Given the description of an element on the screen output the (x, y) to click on. 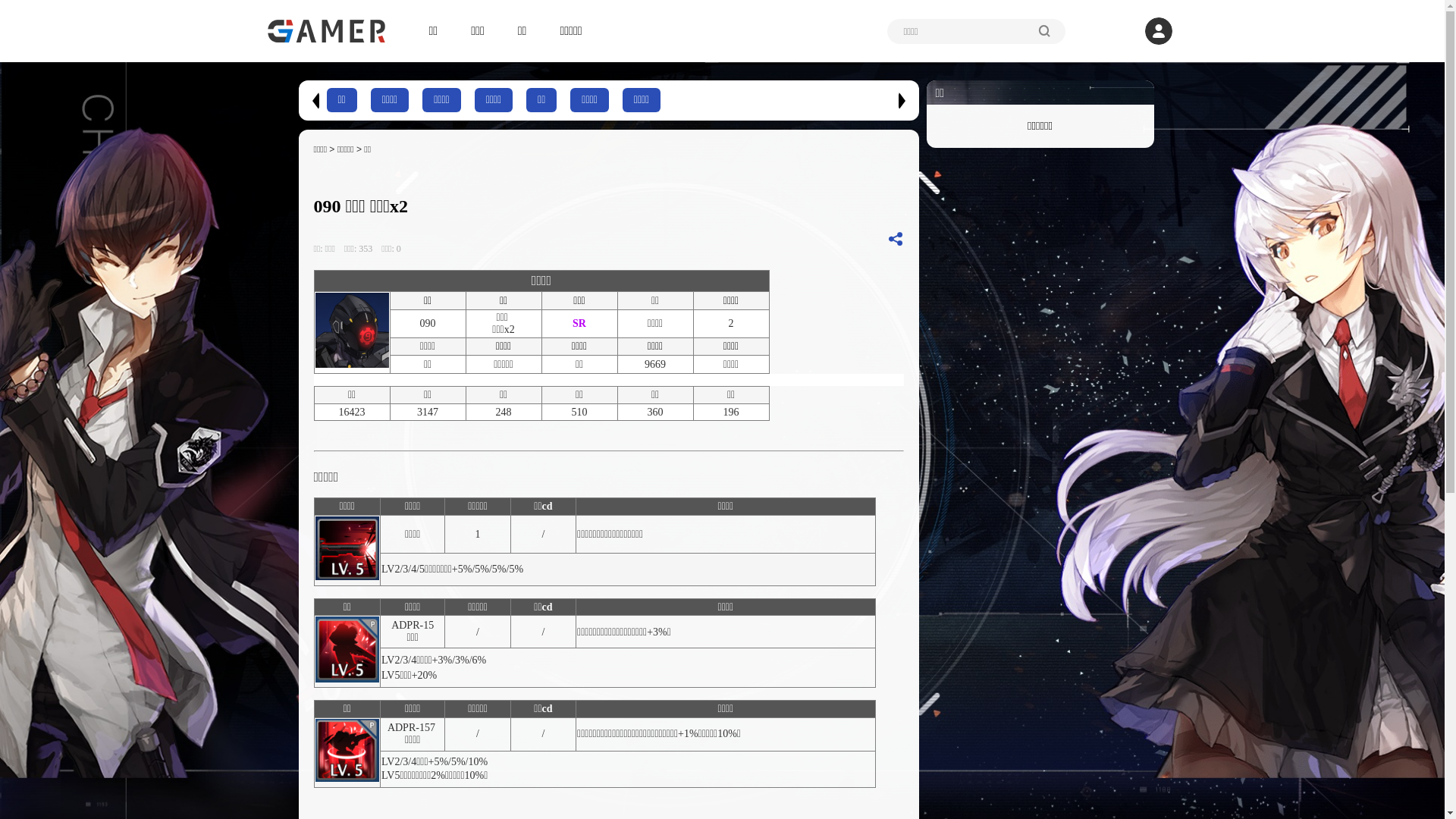
0 Element type: text (398, 248)
353    Element type: text (368, 248)
